Given the description of an element on the screen output the (x, y) to click on. 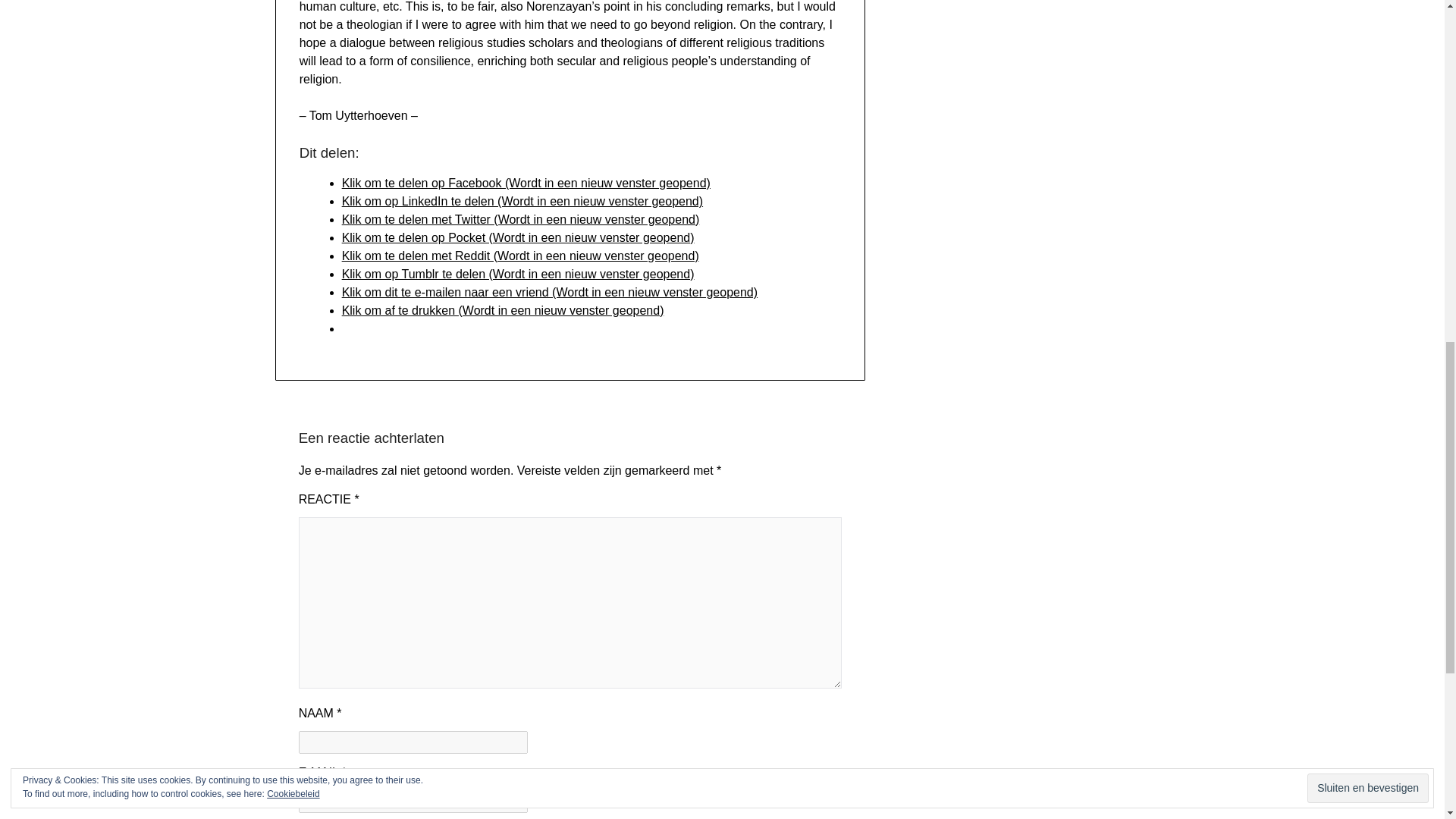
Klik om te delen op Pocket (518, 237)
Klik om af te drukken (502, 309)
Klik om te delen op Facebook (526, 182)
Klik om op LinkedIn te delen (522, 201)
Klik om te delen met Reddit (520, 255)
Klik om te delen met Twitter (521, 219)
Klik om dit te e-mailen naar een vriend (549, 291)
Klik om op Tumblr te delen (518, 273)
